Given the description of an element on the screen output the (x, y) to click on. 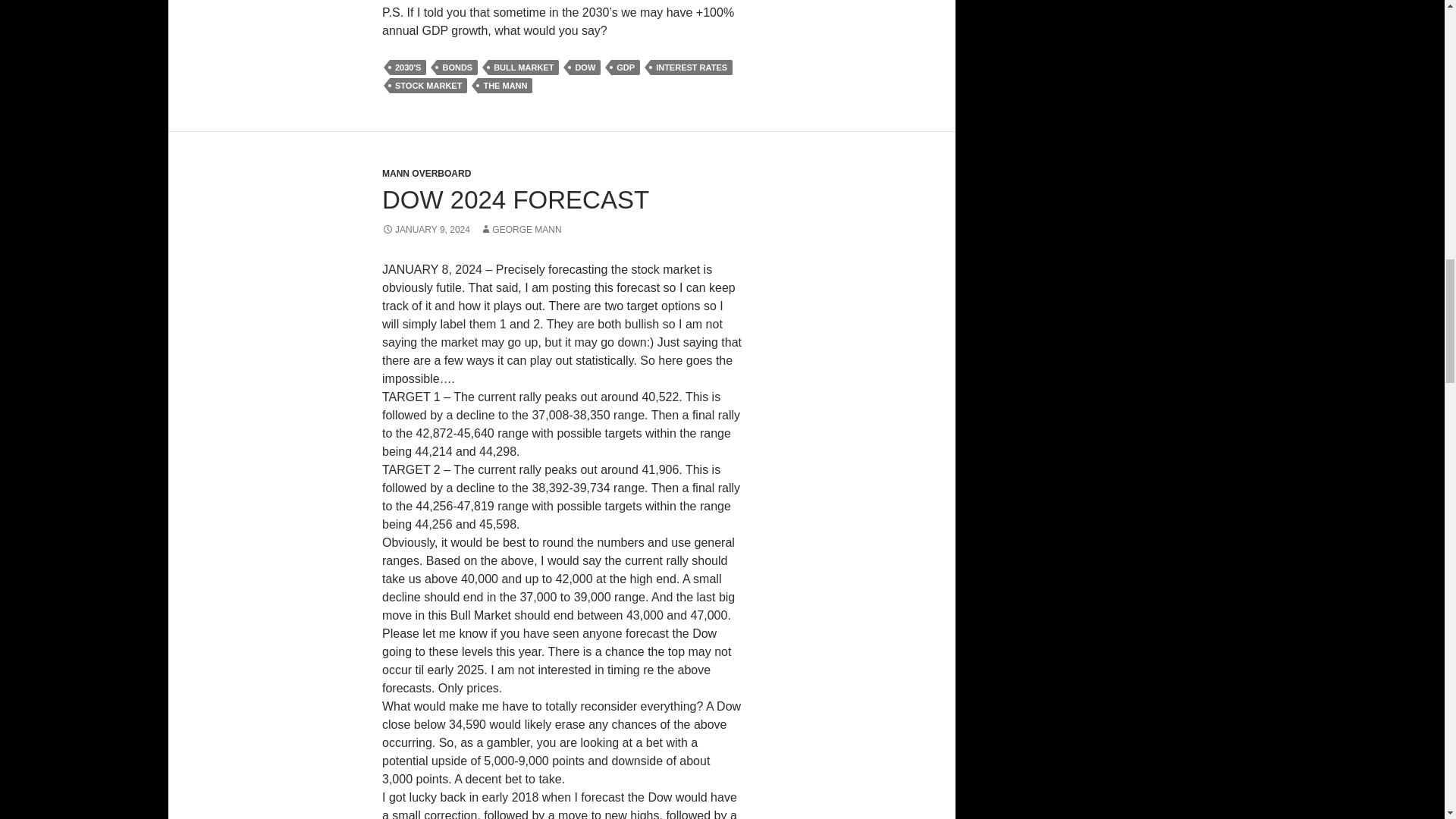
DOW 2024 FORECAST (515, 199)
DOW (584, 67)
INTEREST RATES (691, 67)
2030'S (408, 67)
THE MANN (504, 85)
MANN OVERBOARD (425, 173)
BONDS (456, 67)
STOCK MARKET (428, 85)
GDP (625, 67)
BULL MARKET (523, 67)
JANUARY 9, 2024 (425, 229)
